Given the description of an element on the screen output the (x, y) to click on. 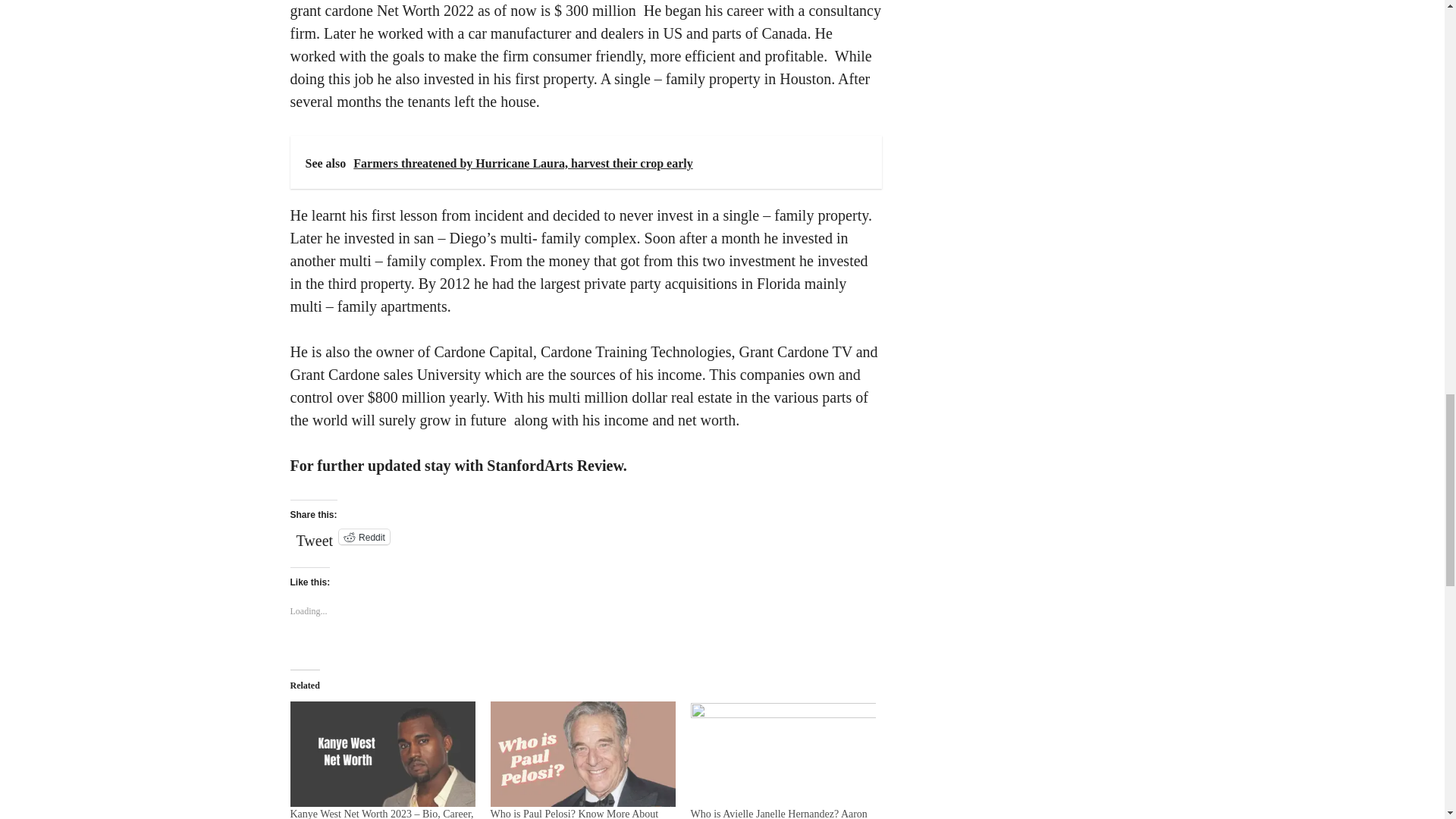
Reddit (364, 536)
Click to share on Reddit (364, 536)
StanfordArts Review. (554, 465)
Tweet (314, 535)
